Given the description of an element on the screen output the (x, y) to click on. 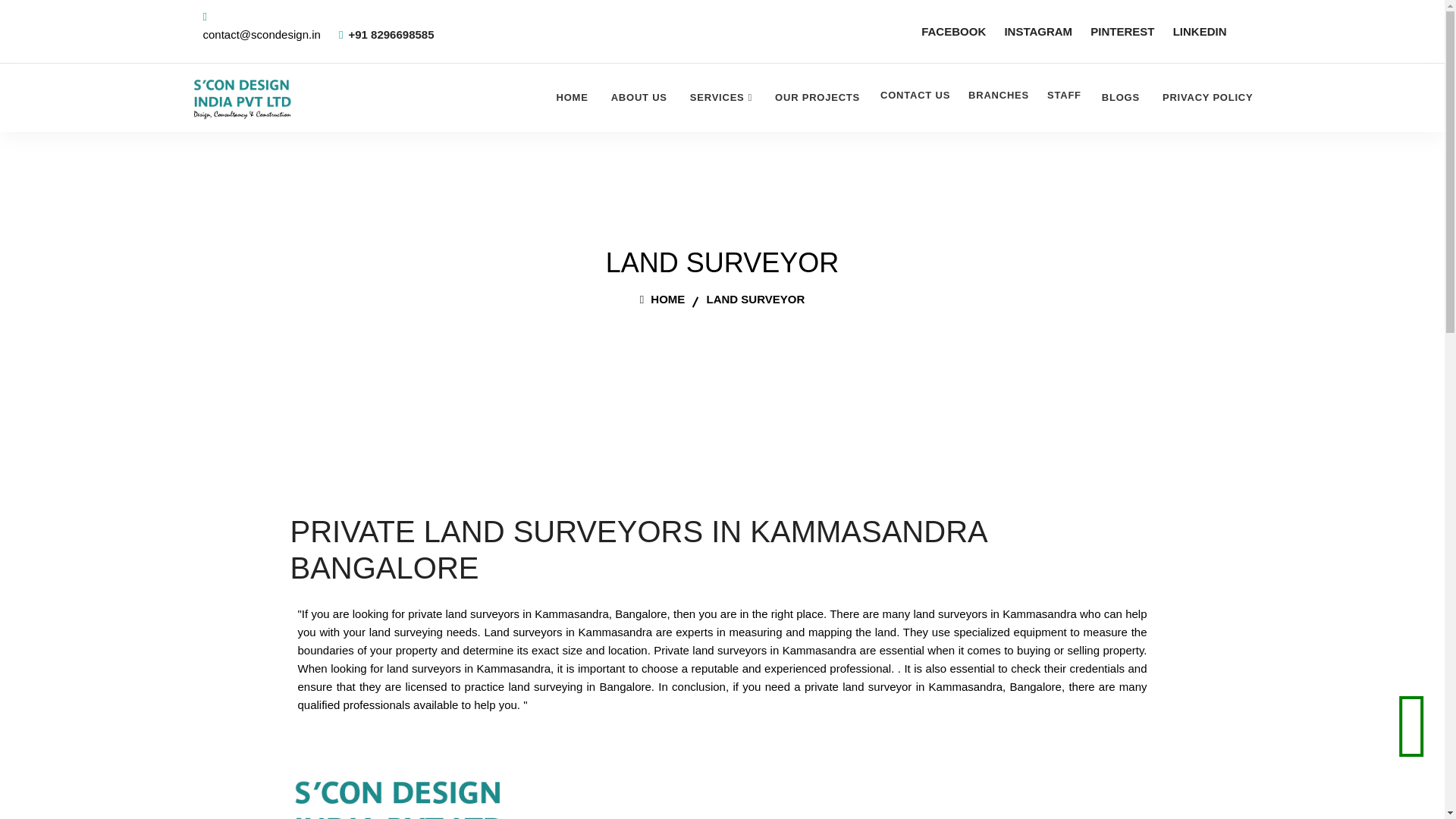
LINKEDIN (1200, 31)
scon design (397, 795)
INSTAGRAM (1037, 31)
PINTEREST (1122, 31)
scon design (241, 97)
ABOUT US (639, 97)
SERVICES (721, 97)
FACEBOOK (953, 31)
